Given the description of an element on the screen output the (x, y) to click on. 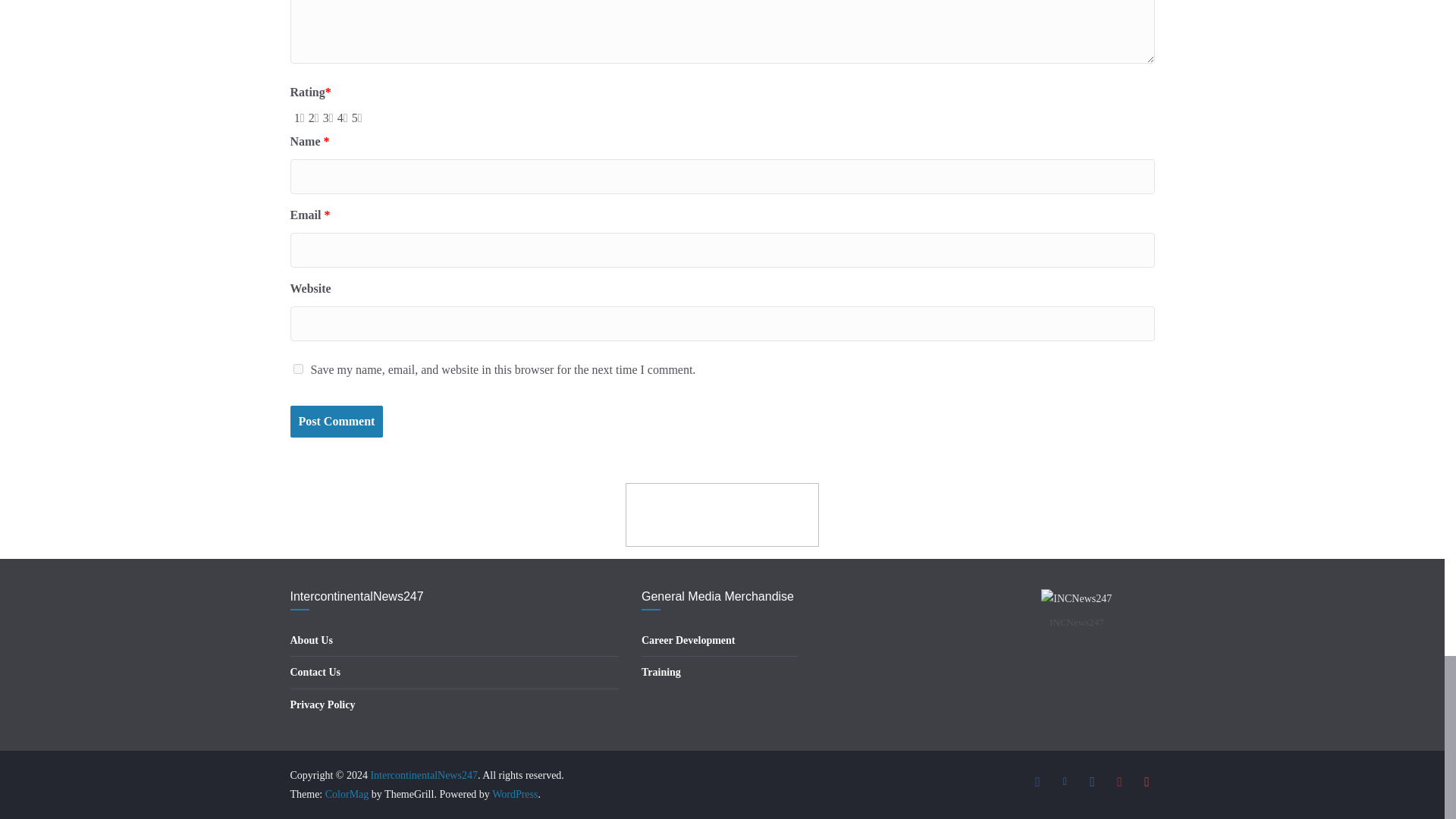
yes (297, 368)
Post Comment (335, 421)
